Given the description of an element on the screen output the (x, y) to click on. 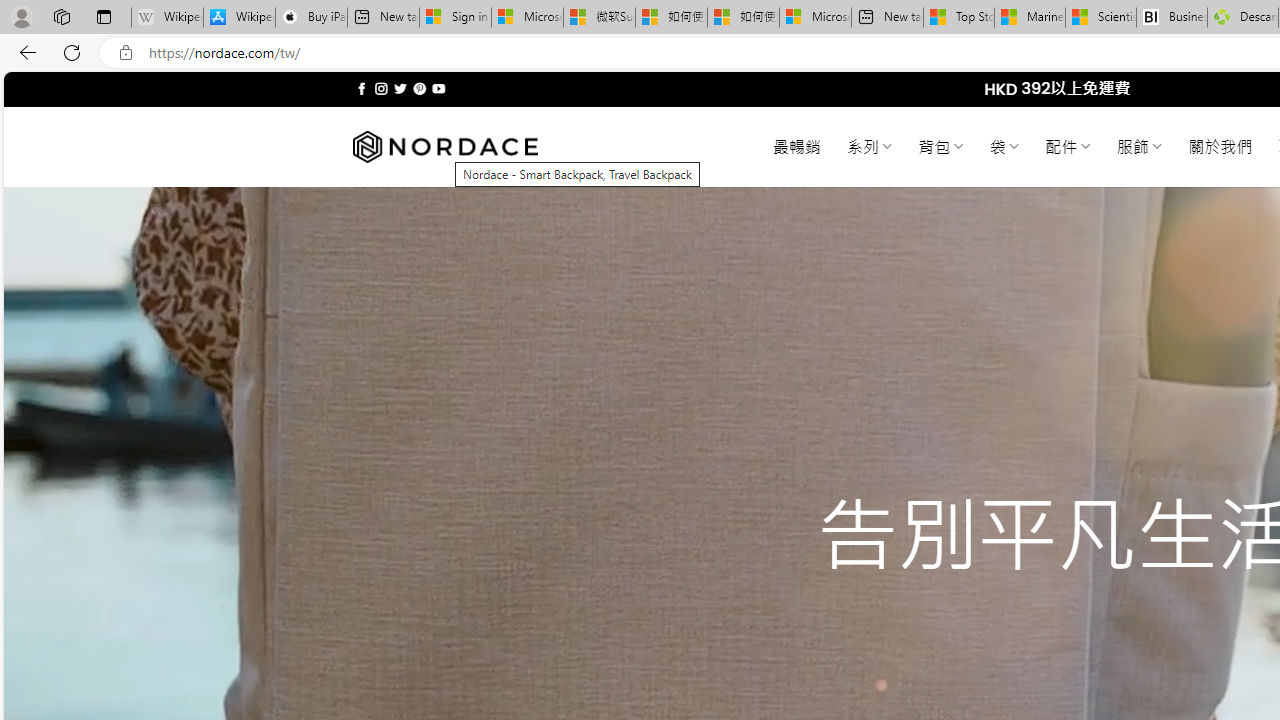
Follow on Instagram (381, 88)
